Given the description of an element on the screen output the (x, y) to click on. 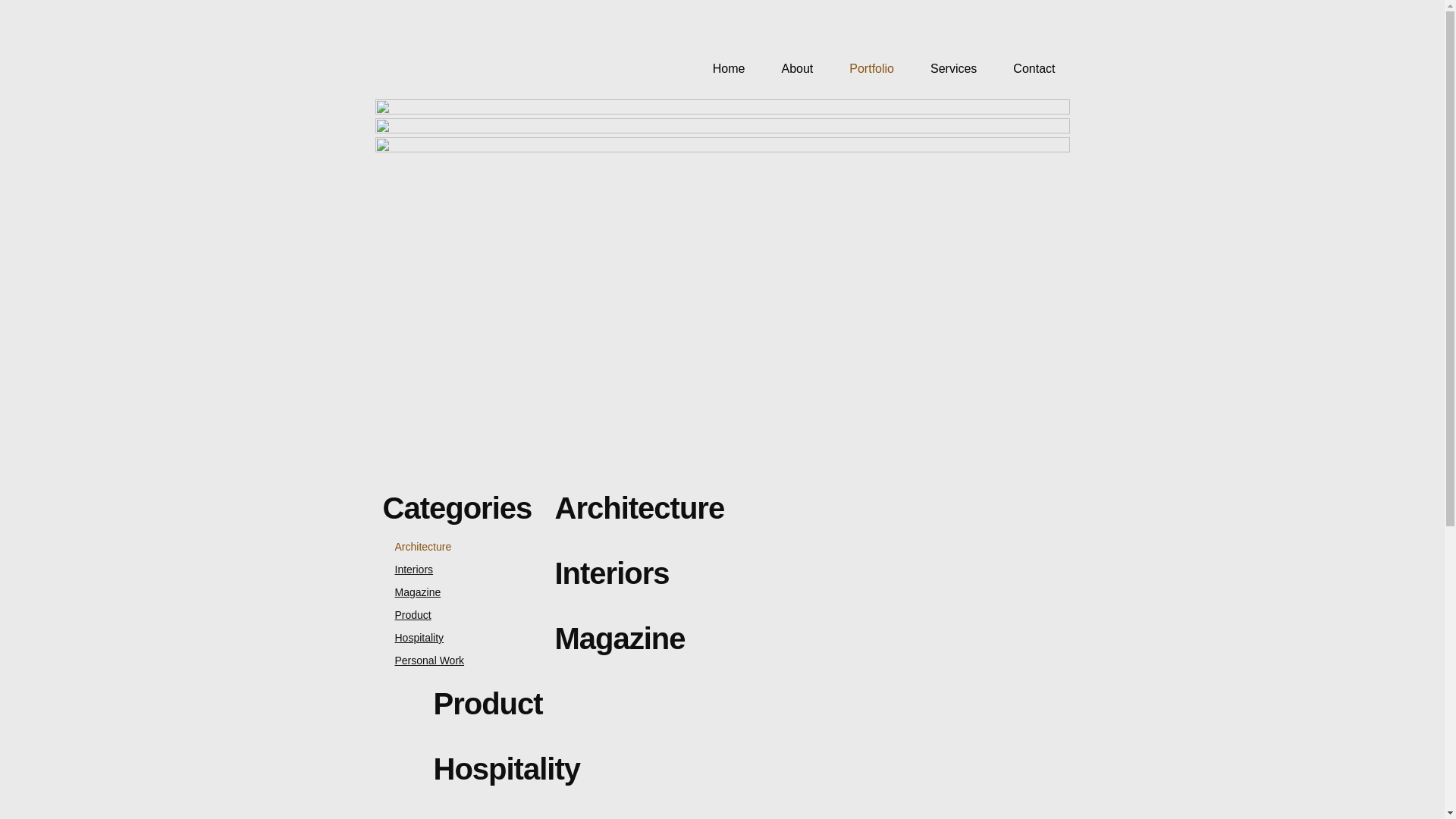
Product Element type: text (406, 614)
About Element type: text (788, 68)
Personal Work Element type: text (423, 660)
Hospitality Element type: text (412, 637)
Home Element type: text (721, 68)
Contact Element type: text (1025, 68)
Magazine Element type: text (411, 592)
Services Element type: text (945, 68)
Architecture Element type: text (416, 546)
Interiors Element type: text (407, 569)
Portfolio Element type: text (864, 68)
